Given the description of an element on the screen output the (x, y) to click on. 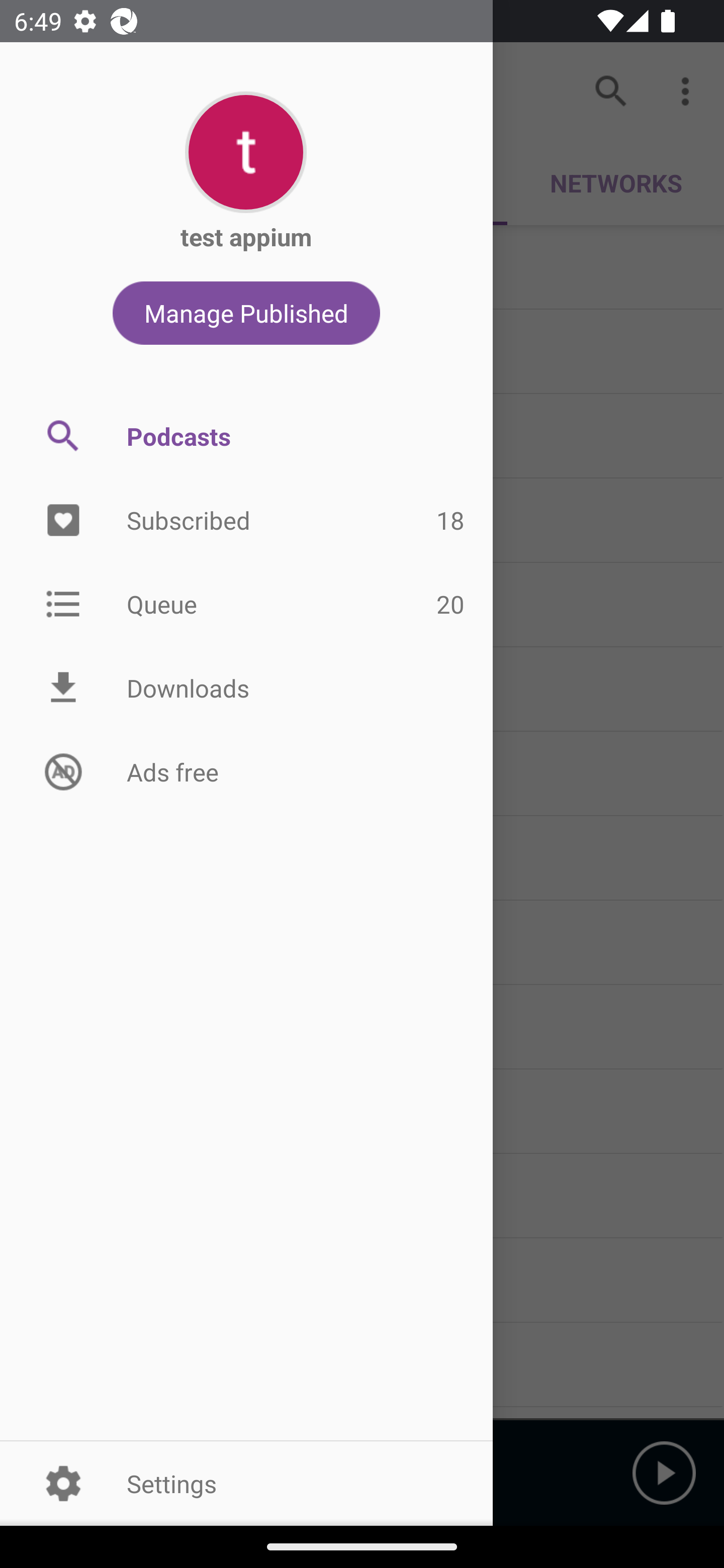
Manage Published (246, 312)
Picture Podcasts (246, 435)
Picture Subscribed 18 (246, 520)
Picture Queue 20 (246, 603)
Picture Downloads (246, 688)
Picture Ads free (246, 771)
Settings Picture Settings (246, 1482)
